Given the description of an element on the screen output the (x, y) to click on. 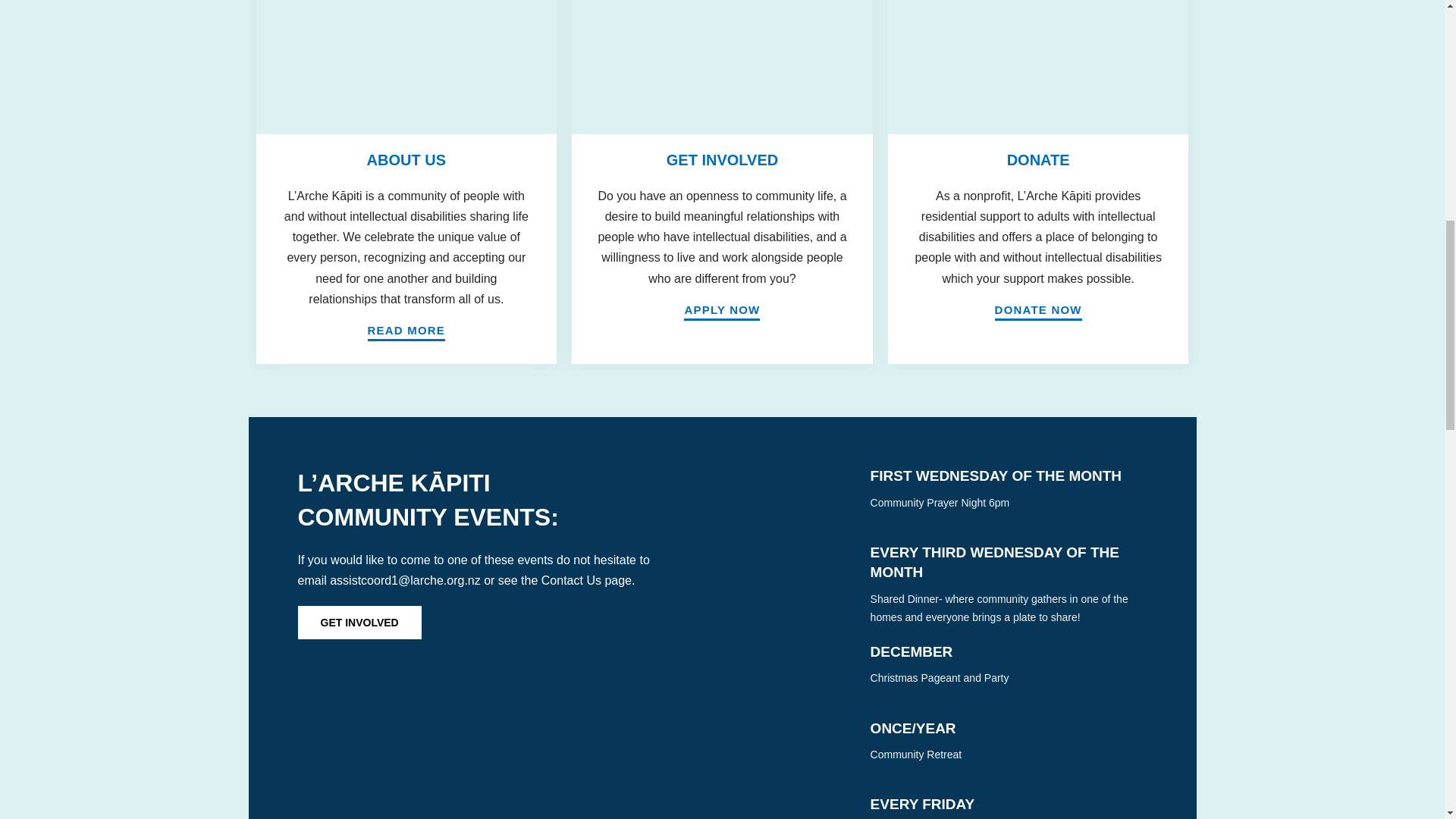
community-retreat (803, 746)
prayer (803, 493)
DONATE NOW (1037, 312)
dinner (803, 570)
morning-tea (803, 806)
APPLY NOW (722, 312)
christmas (803, 669)
READ MORE (406, 332)
